Given the description of an element on the screen output the (x, y) to click on. 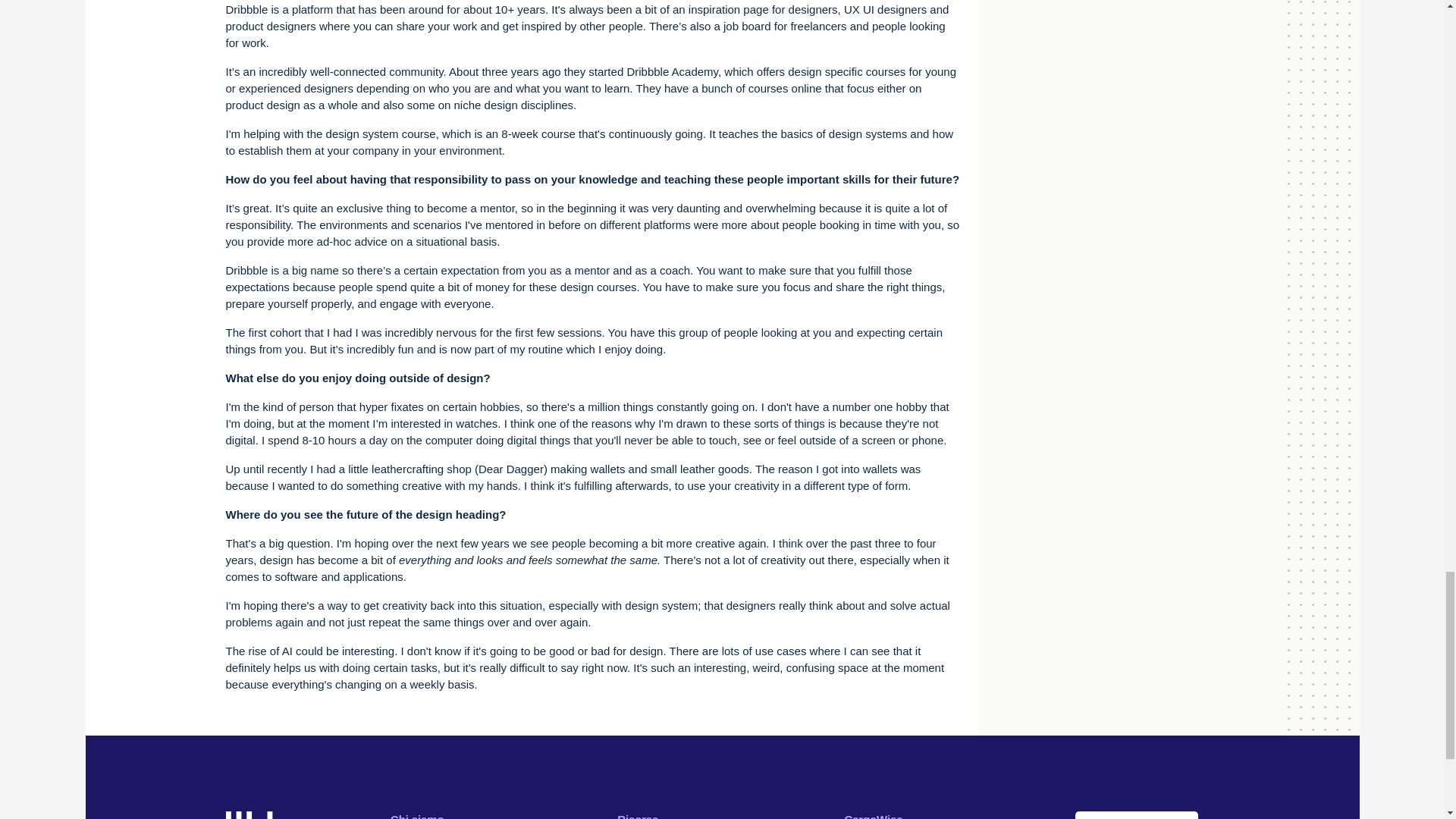
CargoWise (873, 816)
